Given the description of an element on the screen output the (x, y) to click on. 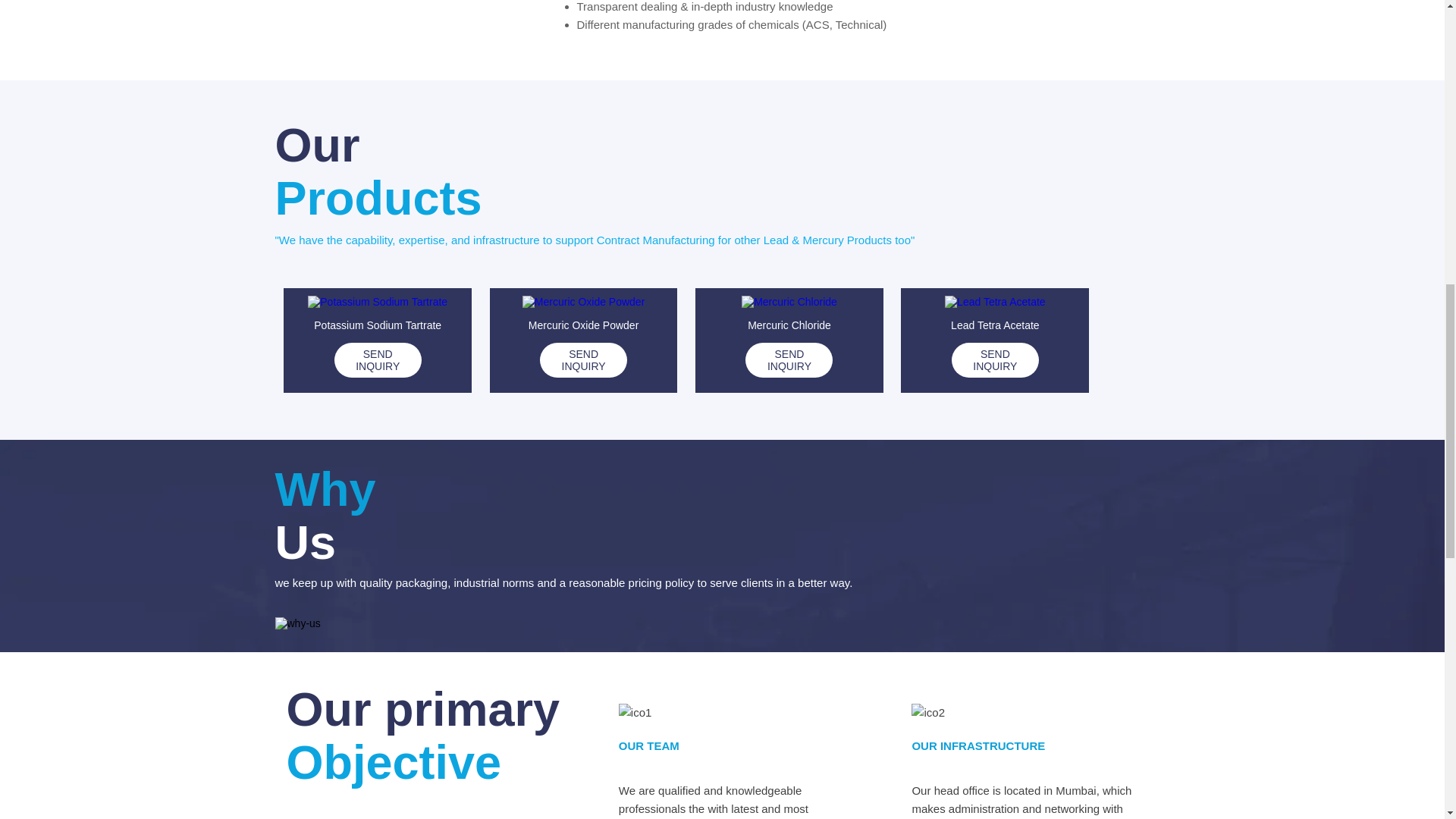
Mercuric Oxide Powder (583, 301)
Potassium Sodium Tartrate (376, 301)
Lead Tetra Acetate (994, 301)
Mercuric Chloride (789, 301)
